Given the description of an element on the screen output the (x, y) to click on. 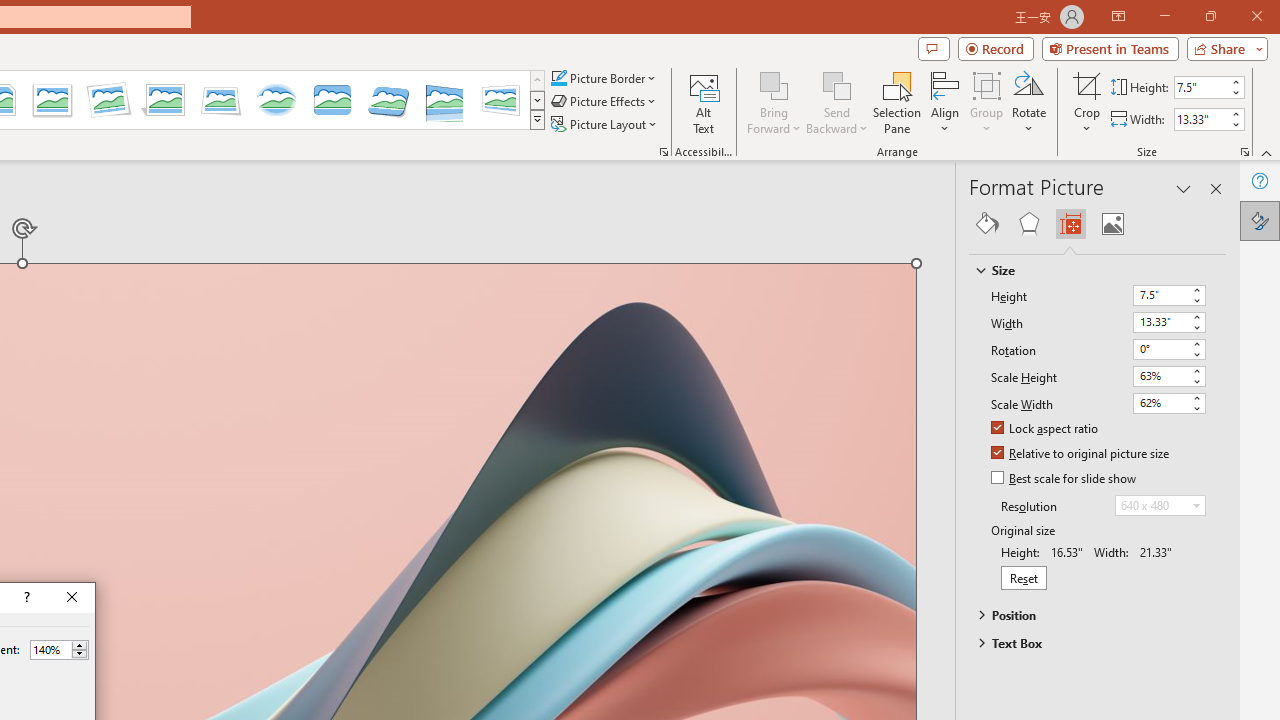
Bring Forward (773, 84)
Height (1160, 294)
Effects (1028, 223)
Selection Pane... (897, 102)
Picture Effects (605, 101)
Height (1168, 295)
Scale Width (1160, 402)
Relaxed Perspective, White (221, 100)
Rotate (1028, 102)
Align (945, 102)
Fill & Line (987, 223)
